Given the description of an element on the screen output the (x, y) to click on. 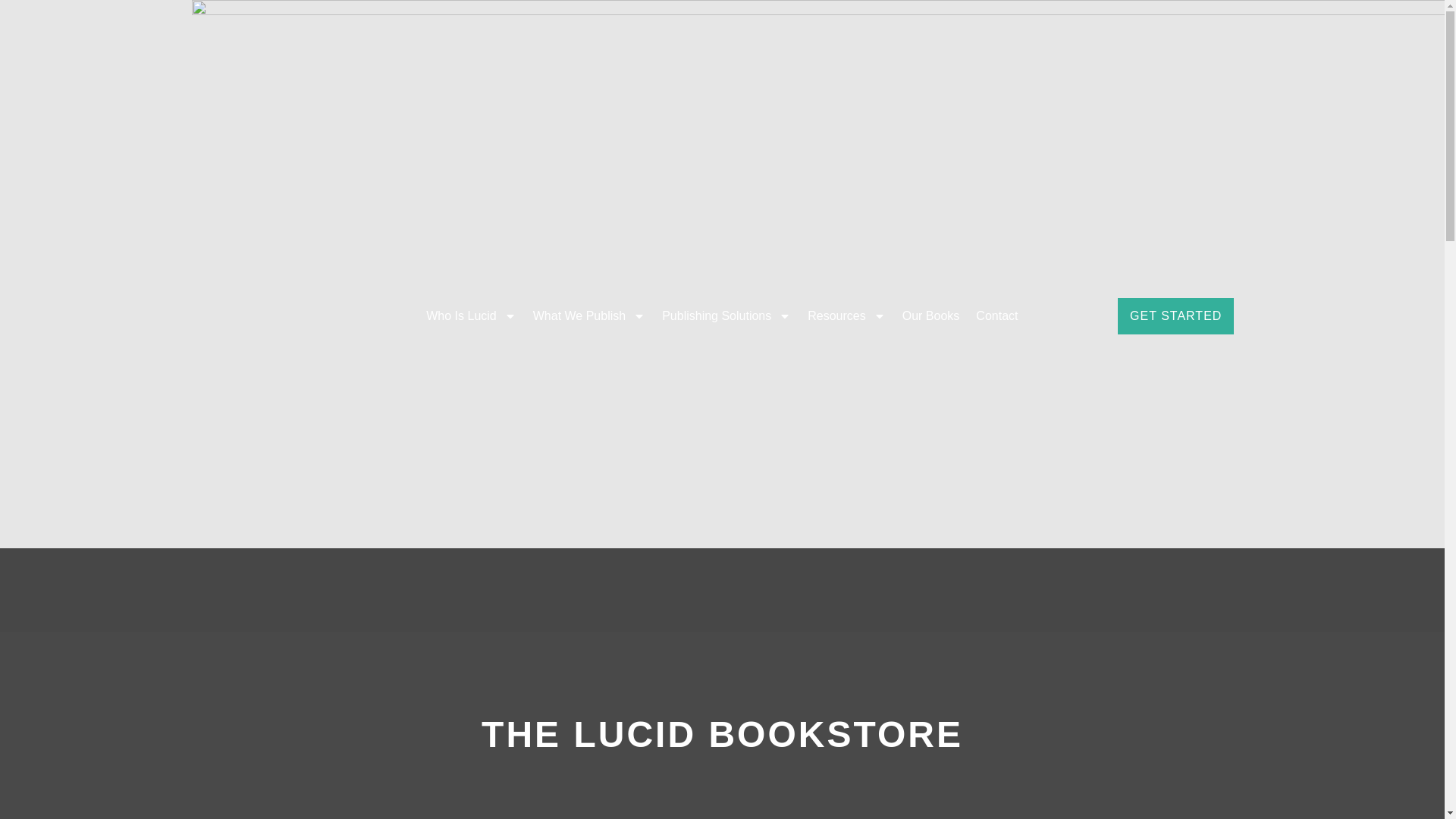
Publishing Solutions (726, 315)
Who Is Lucid (470, 315)
Our Books (930, 315)
What We Publish (588, 315)
Resources (846, 315)
Contact (997, 315)
